Given the description of an element on the screen output the (x, y) to click on. 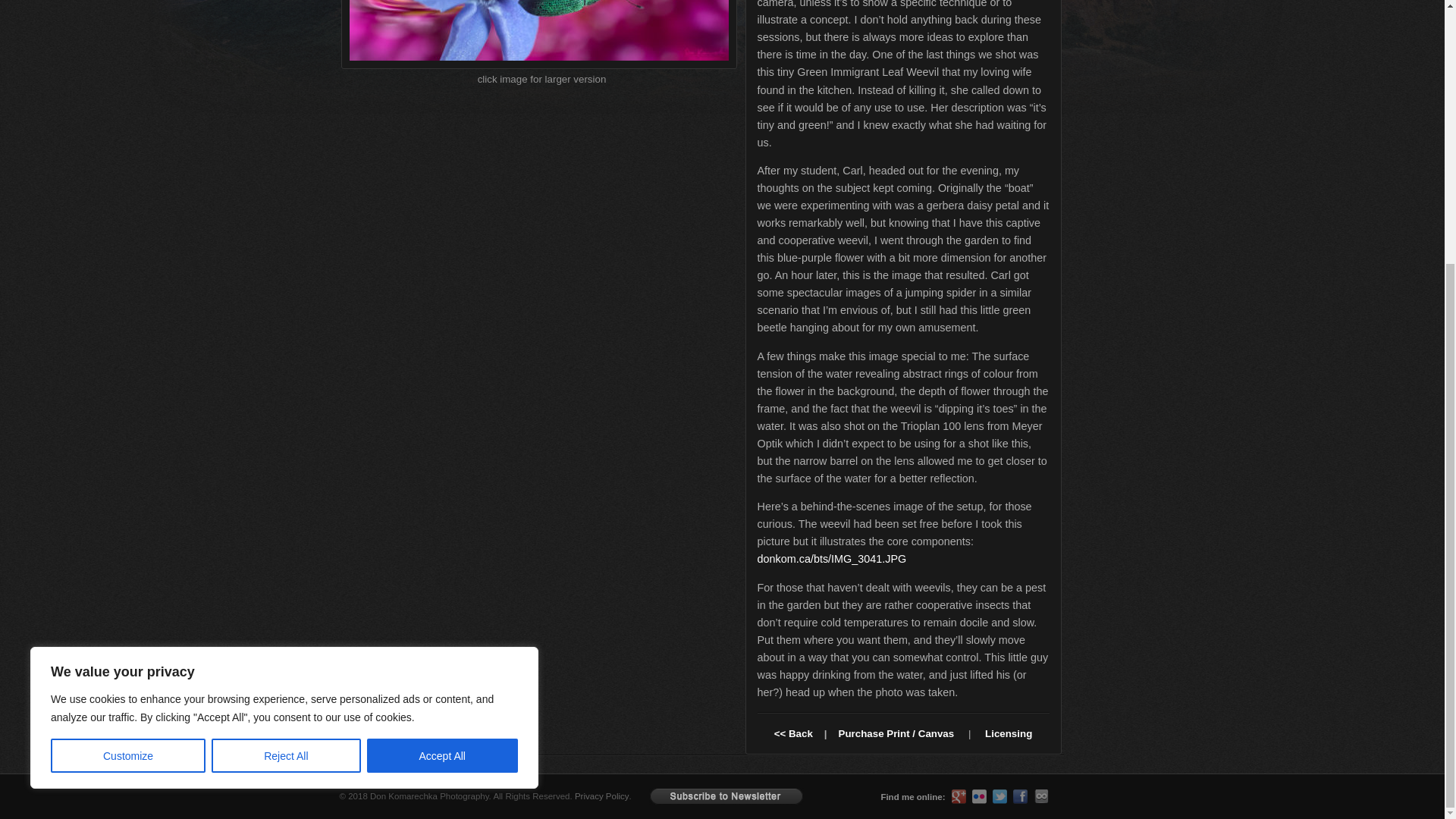
Privacy Policy (601, 795)
Reject All (285, 374)
Accept All (442, 374)
Customize (127, 374)
Licensing (1008, 733)
